Given the description of an element on the screen output the (x, y) to click on. 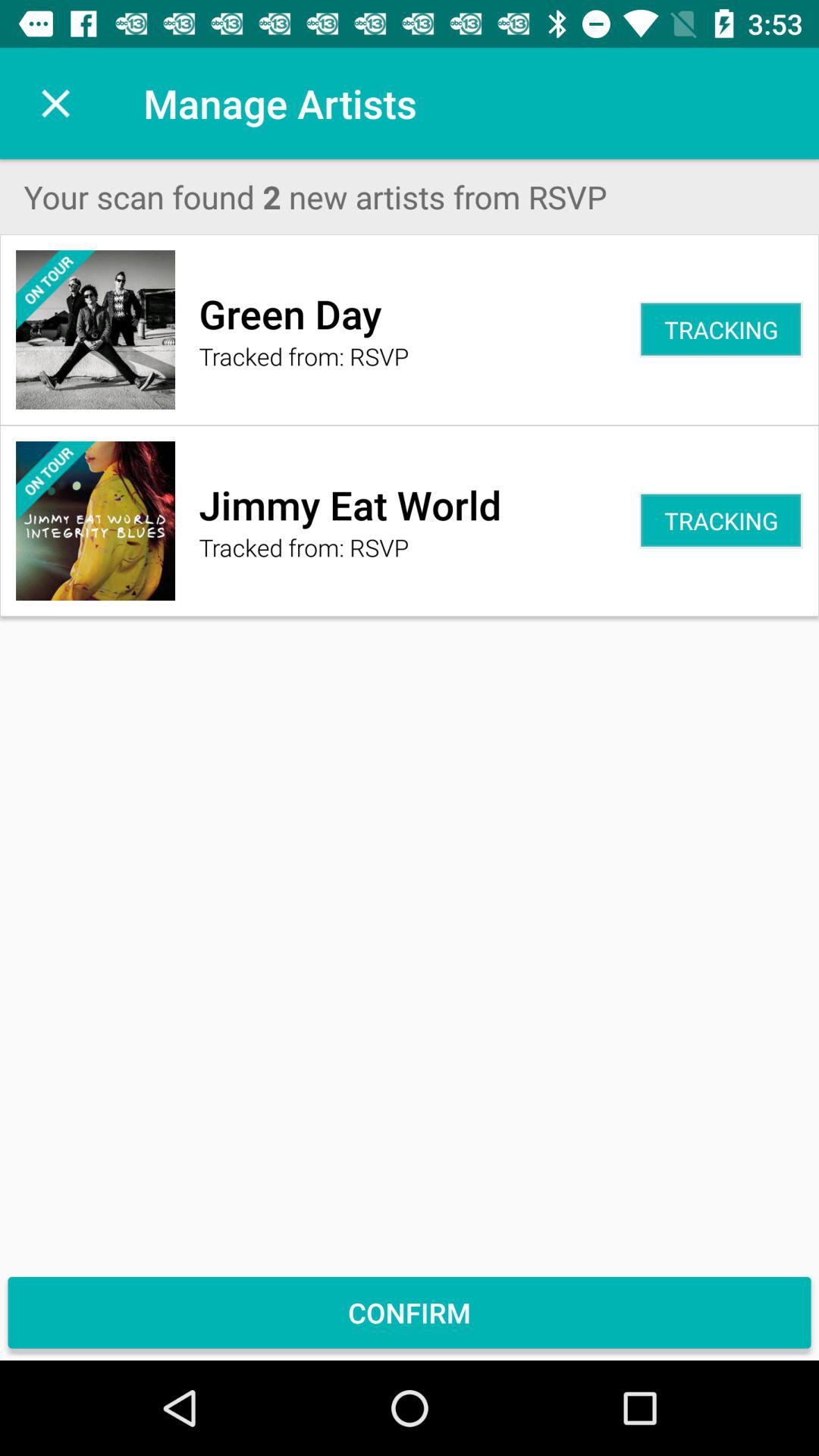
launch the item next to the manage artists (55, 103)
